Given the description of an element on the screen output the (x, y) to click on. 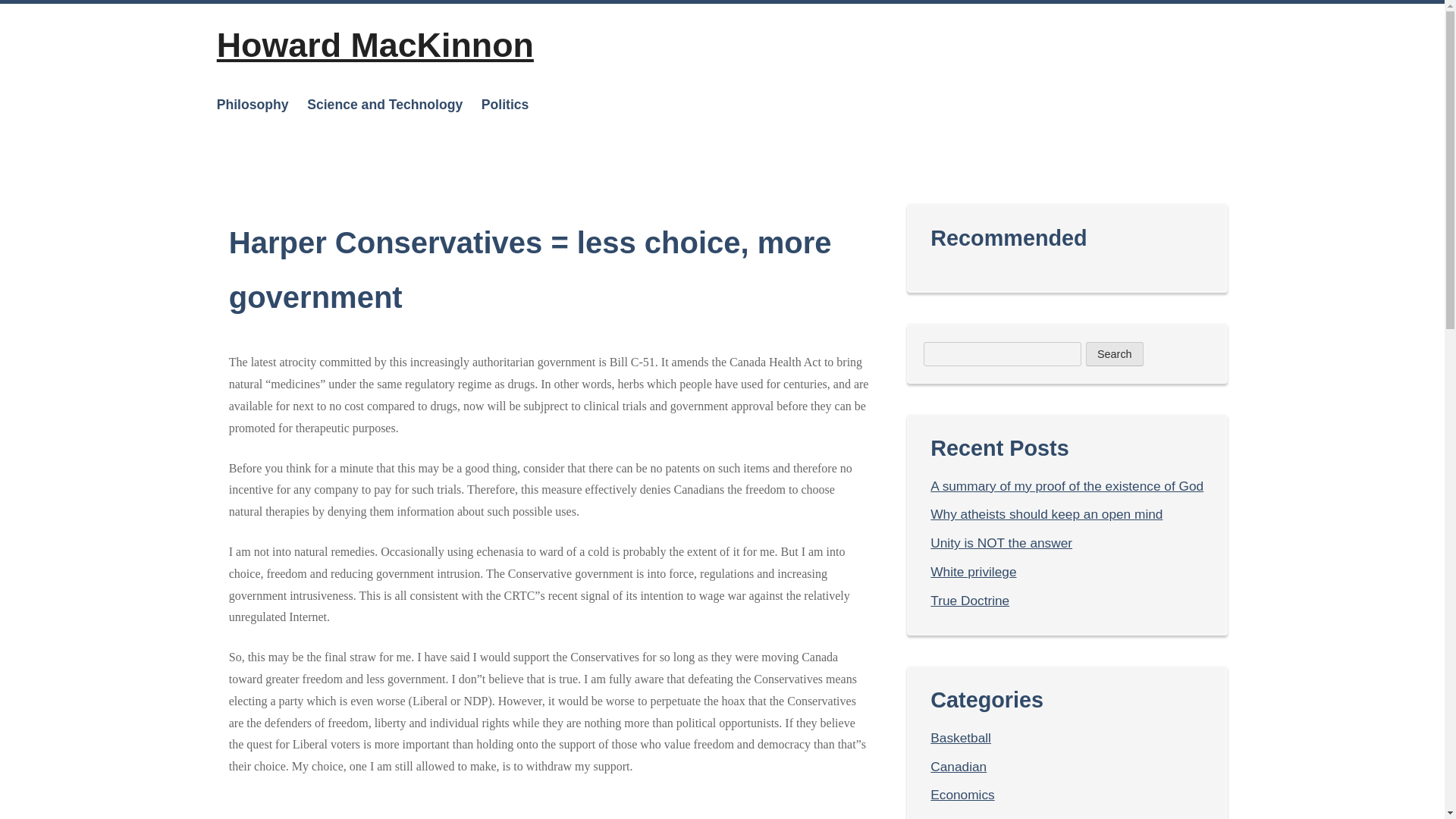
Politics (505, 104)
Nova Scotia (534, 222)
Philosophy (252, 104)
Howard MacKinnon (375, 44)
Why atheists should keep an open mind (1045, 513)
Theology (279, 149)
Unity is NOT the answer (1000, 542)
White privilege (973, 571)
Basketball (960, 737)
